Given the description of an element on the screen output the (x, y) to click on. 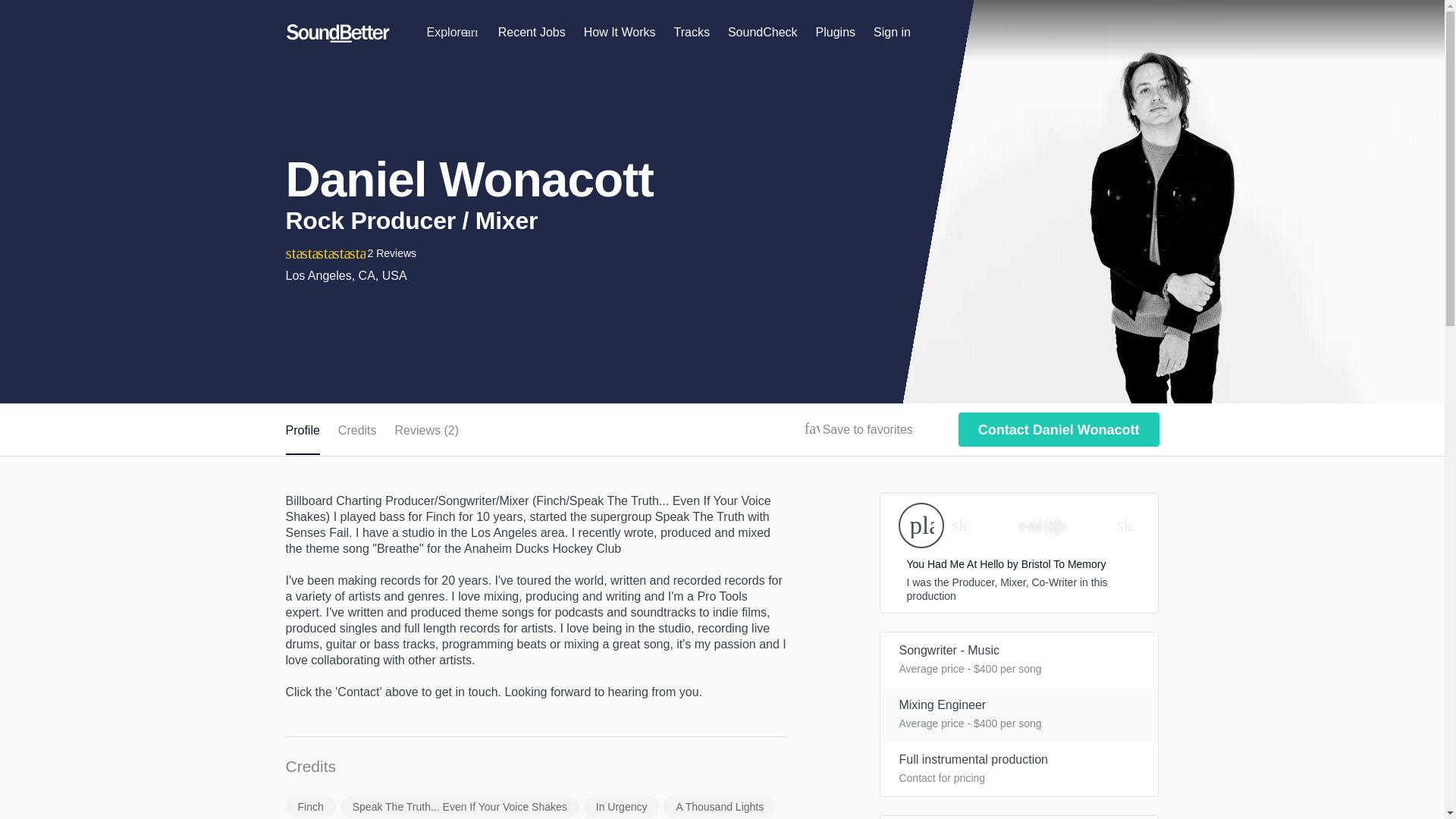
SoundBetter (337, 33)
